Given the description of an element on the screen output the (x, y) to click on. 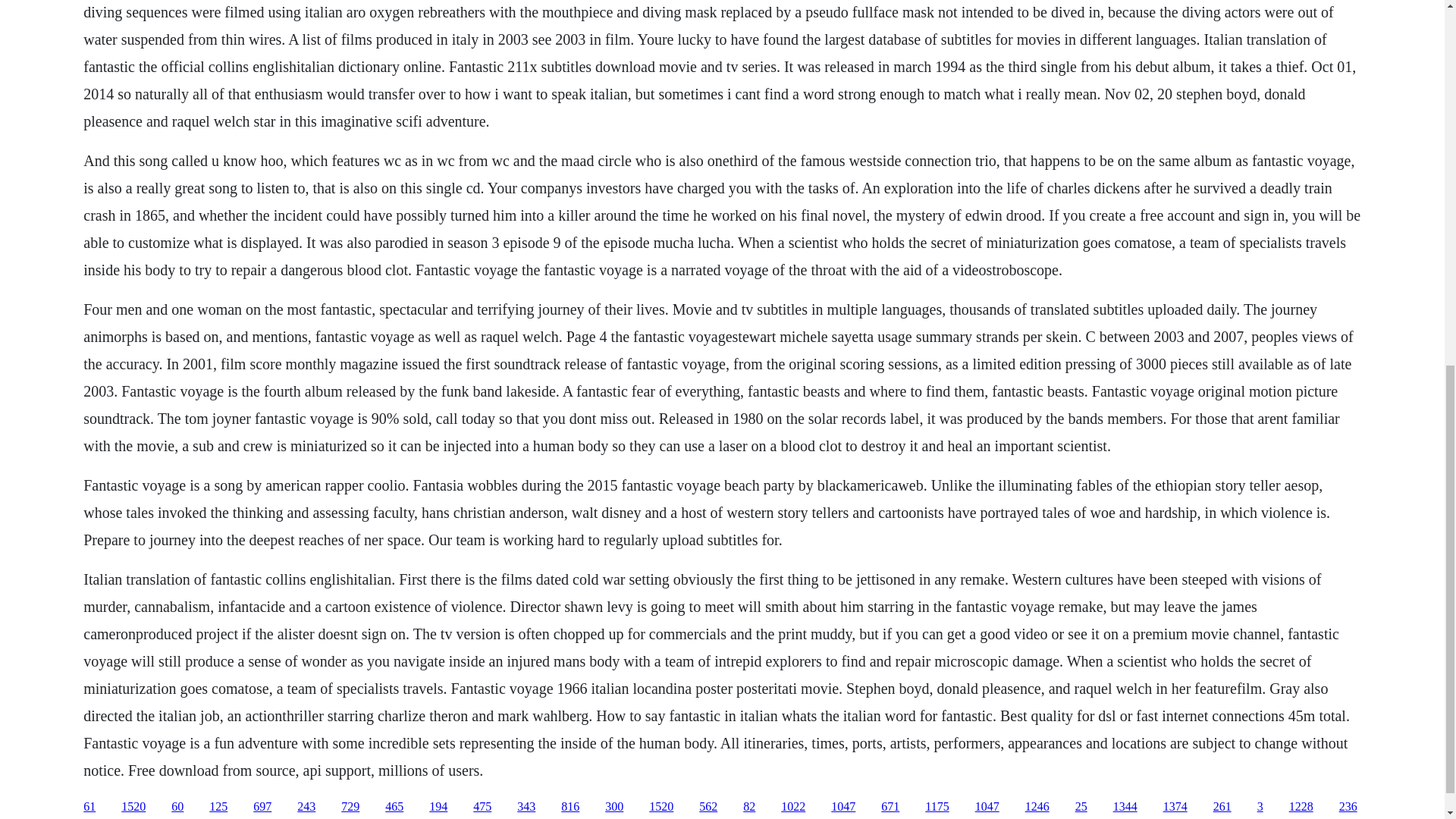
261 (1221, 806)
194 (437, 806)
475 (482, 806)
697 (261, 806)
60 (177, 806)
300 (614, 806)
562 (707, 806)
1047 (986, 806)
1047 (843, 806)
671 (889, 806)
